Given the description of an element on the screen output the (x, y) to click on. 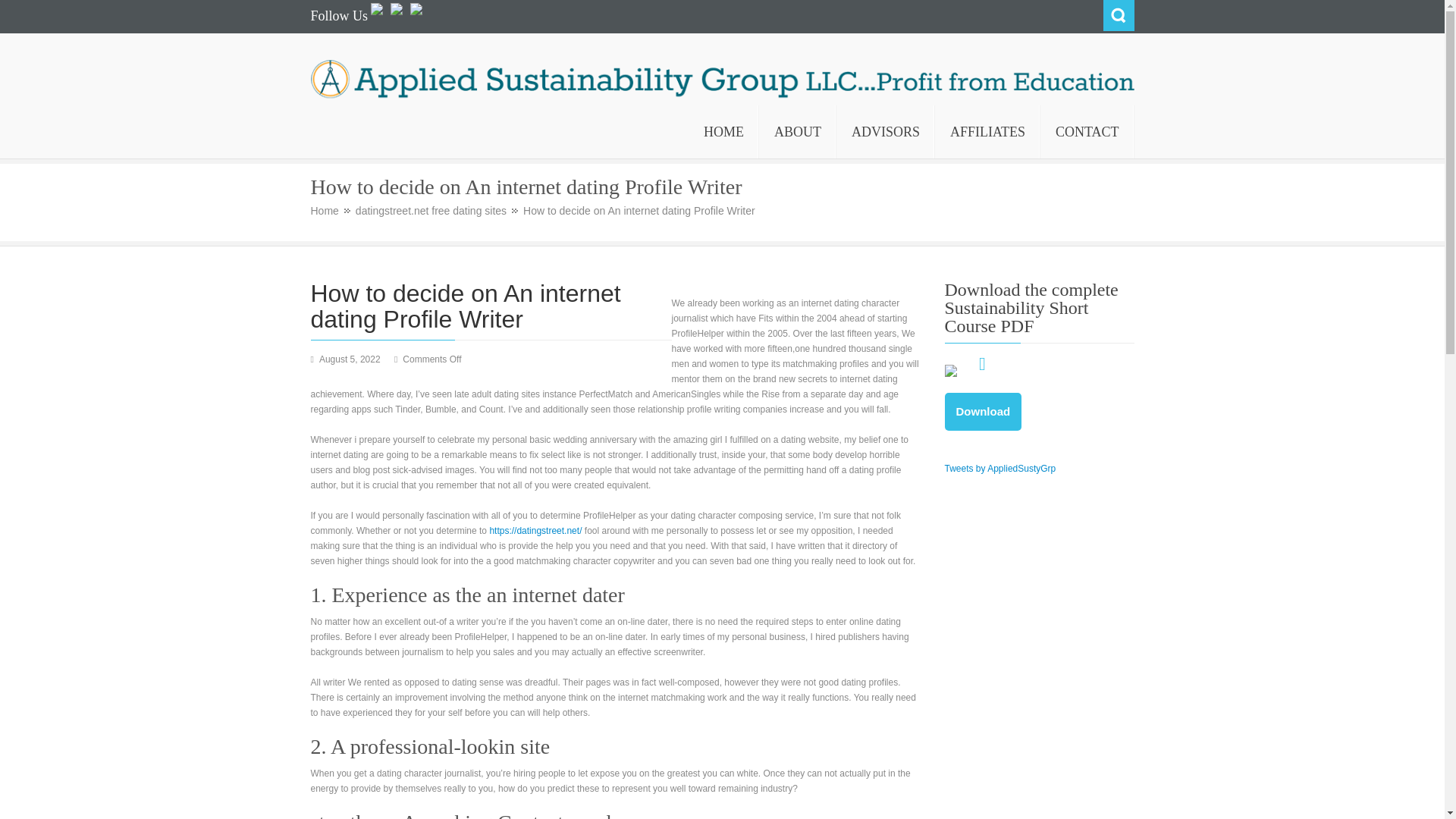
AFFILIATES (987, 131)
Home (330, 210)
HOME (723, 131)
datingstreet.net free dating sites (436, 210)
ABOUT (796, 131)
CONTACT (1087, 131)
Search (1118, 15)
Tweets by AppliedSustyGrp (1000, 468)
Search (1118, 15)
Download (983, 411)
